Given the description of an element on the screen output the (x, y) to click on. 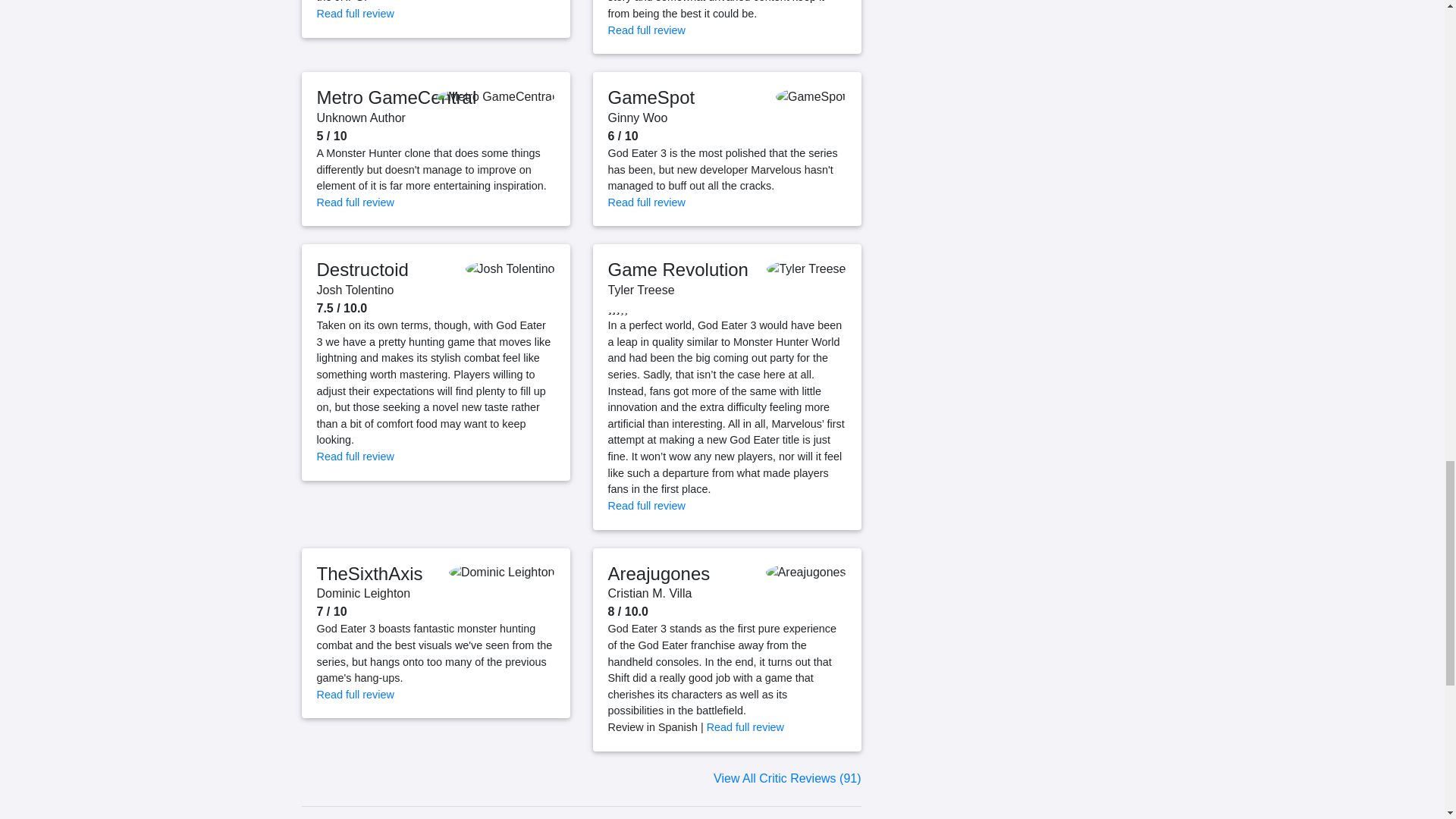
Read full review (355, 13)
Read full review (646, 30)
Metro GameCentral (397, 96)
